Given the description of an element on the screen output the (x, y) to click on. 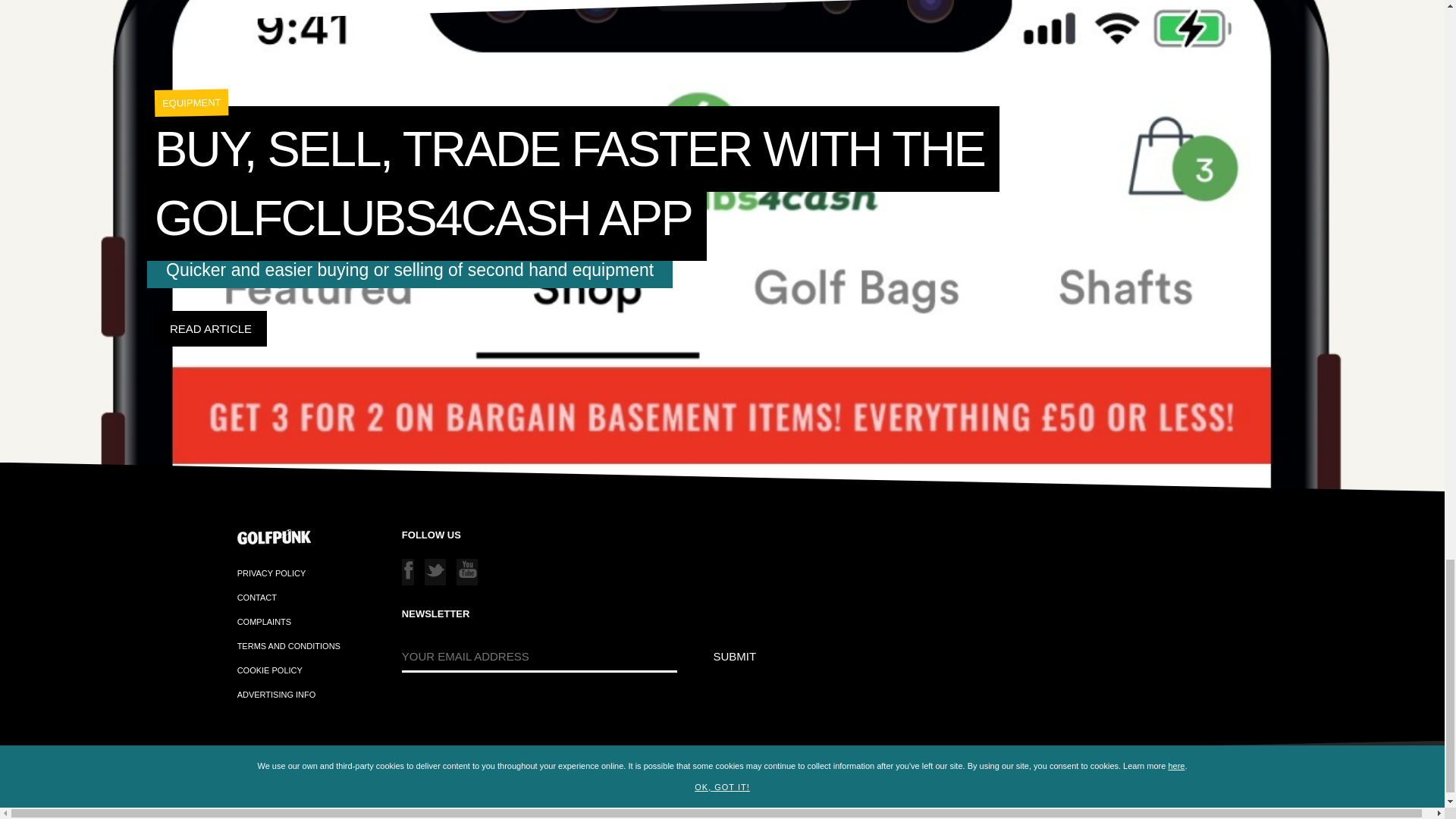
Submit (734, 656)
GolfPunkHQ (216, 794)
